Given the description of an element on the screen output the (x, y) to click on. 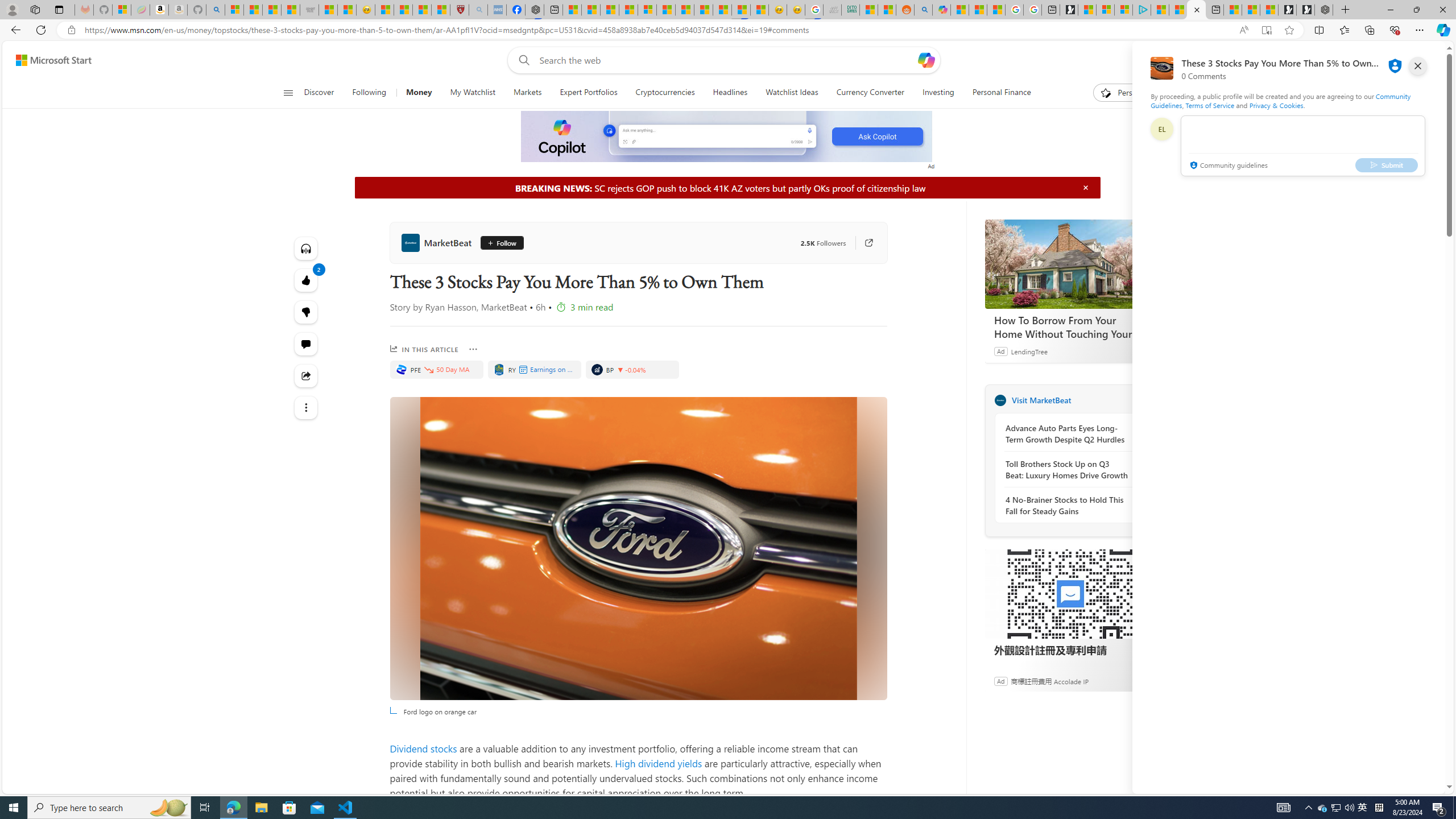
MarketBeat (438, 242)
Headlines (730, 92)
Microsoft Copilot in Bing (941, 9)
Investing (937, 92)
Follow (497, 242)
Profile Picture (1161, 128)
To get missing image descriptions, open the context menu. (726, 136)
MSN (740, 9)
